Given the description of an element on the screen output the (x, y) to click on. 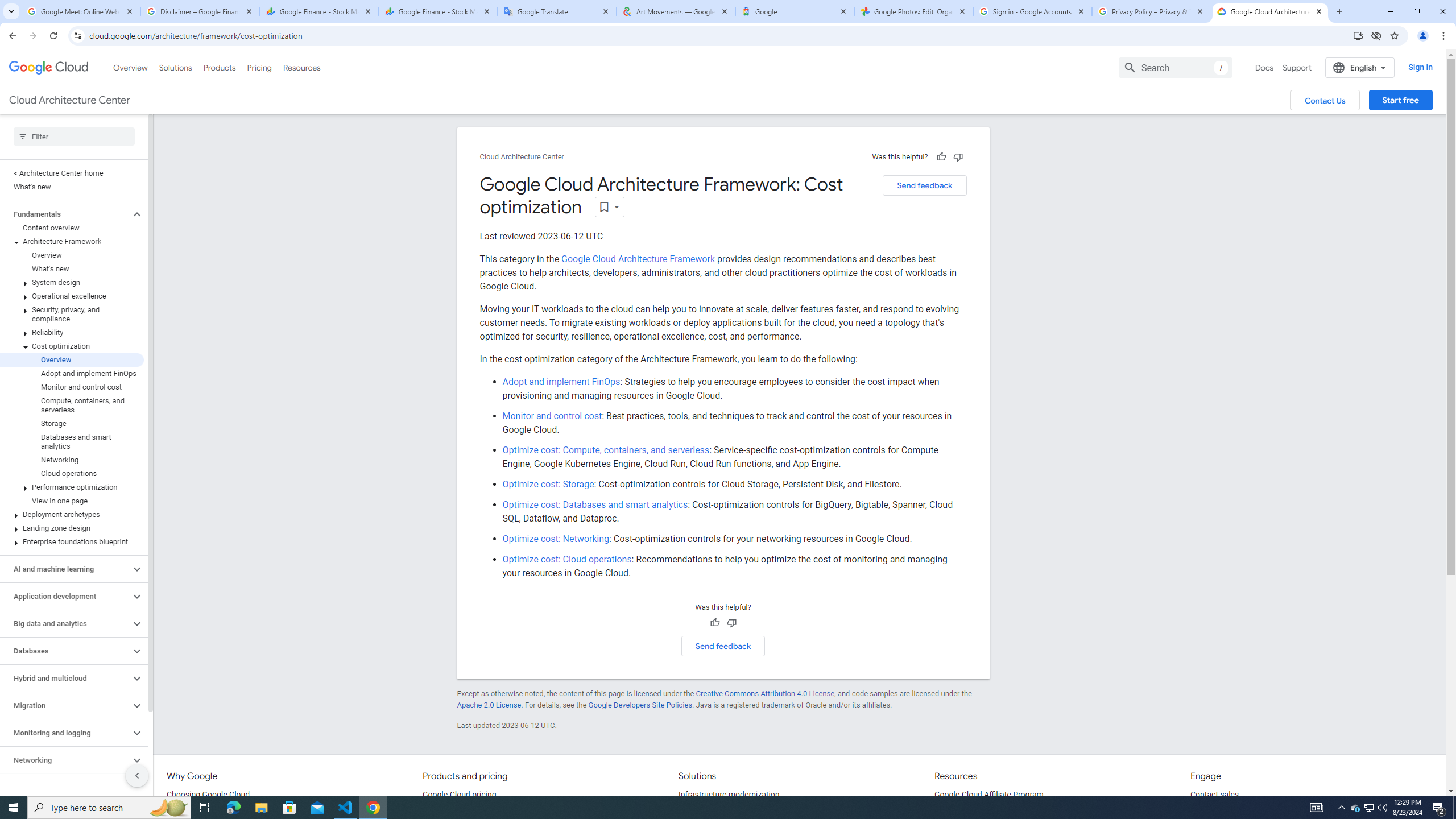
Operational excellence (72, 296)
Infrastructure modernization (729, 795)
Reliability (72, 332)
Start free (1400, 100)
Not helpful (731, 622)
Storage (72, 423)
Monitor and control cost (552, 415)
Adopt and implement FinOps (561, 381)
Hybrid and multicloud (64, 678)
